Given the description of an element on the screen output the (x, y) to click on. 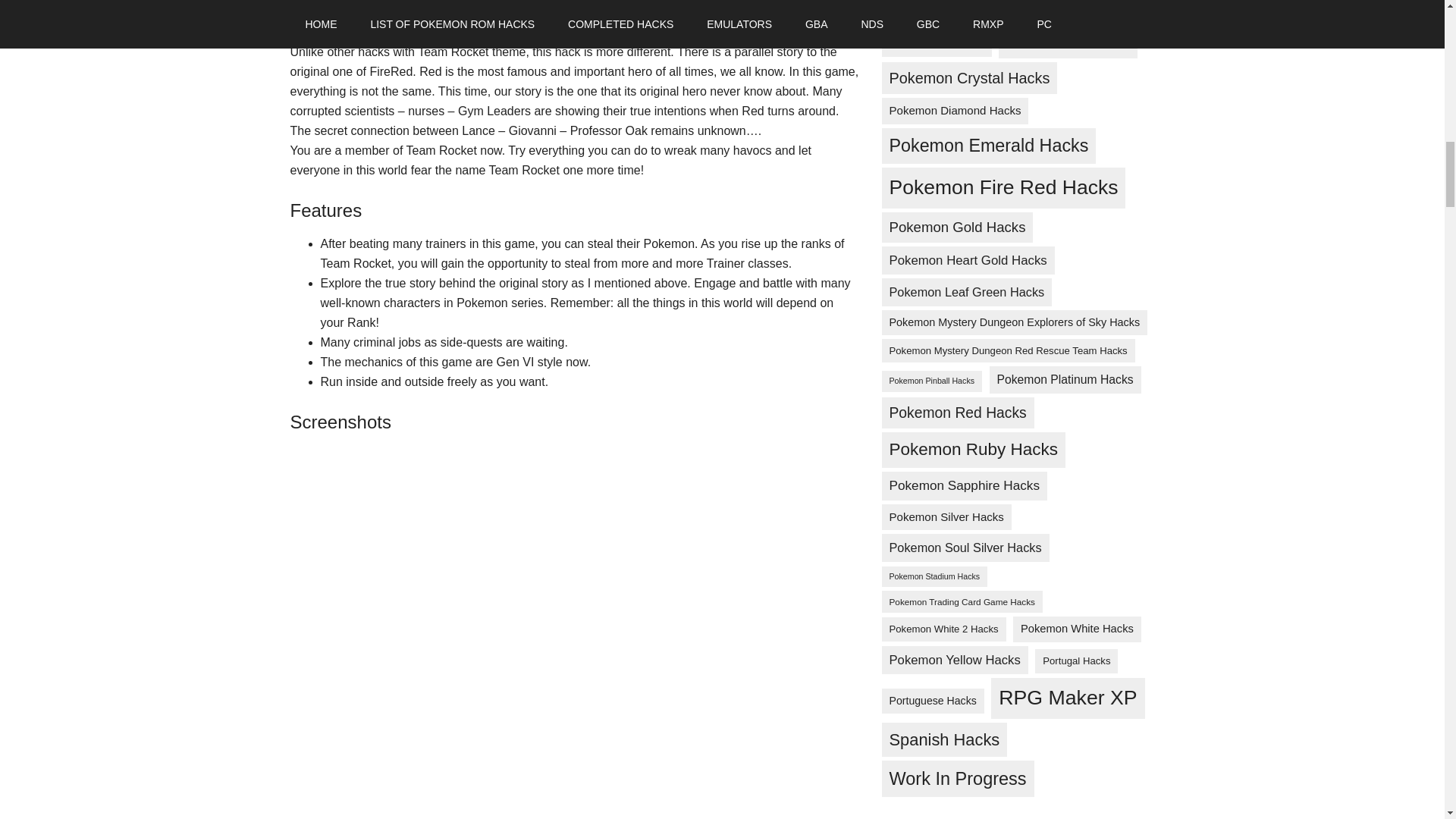
Pokemon Fire Red Rocket Edition Screenshot (380, 662)
Pokemon Fire Red Rocket Edition Screenshot (380, 788)
Pokemon Fire Red Rocket Edition Screenshot (380, 506)
